Given the description of an element on the screen output the (x, y) to click on. 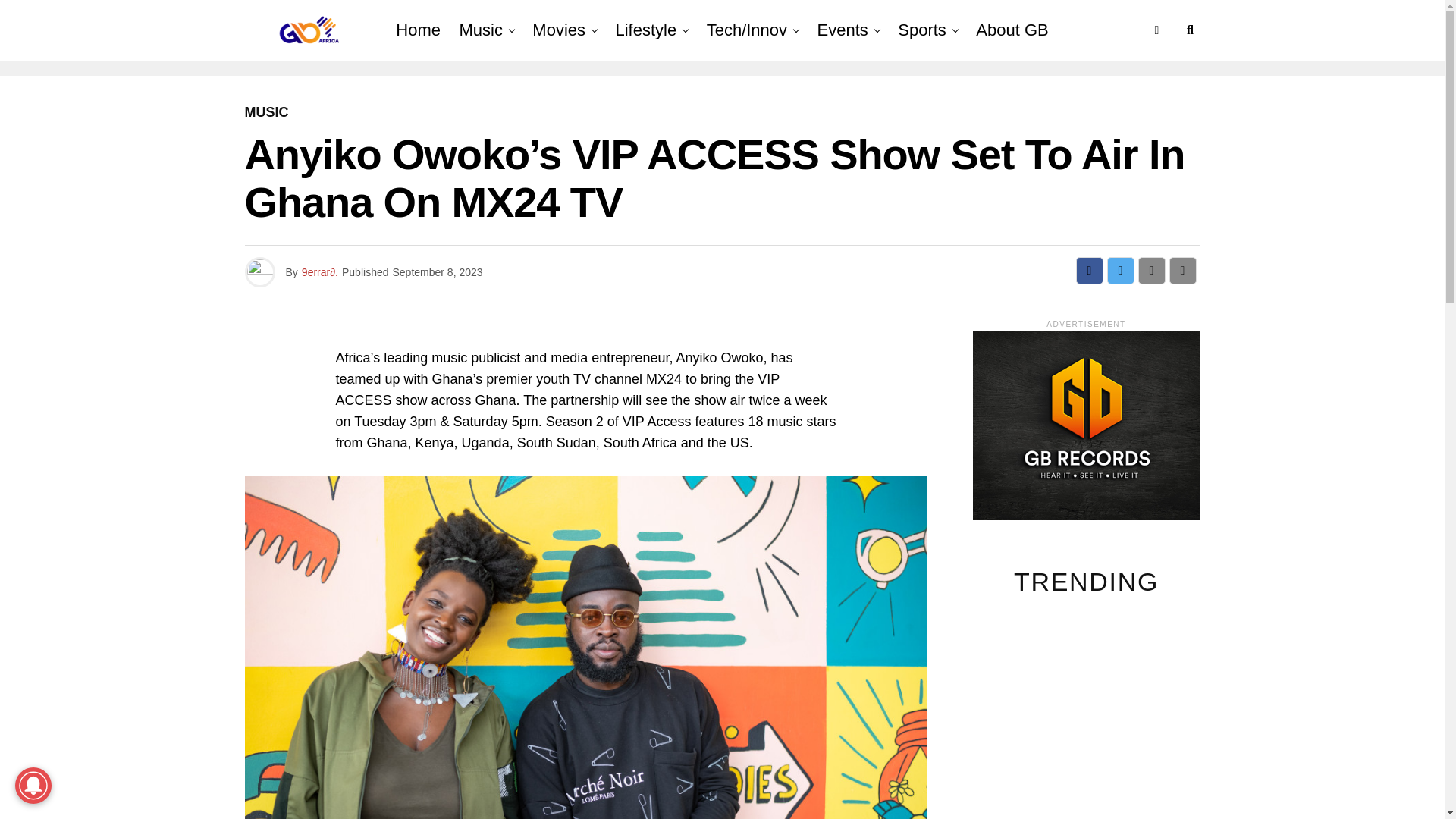
Share on Facebook (1088, 270)
Tweet This Post (1120, 270)
